Given the description of an element on the screen output the (x, y) to click on. 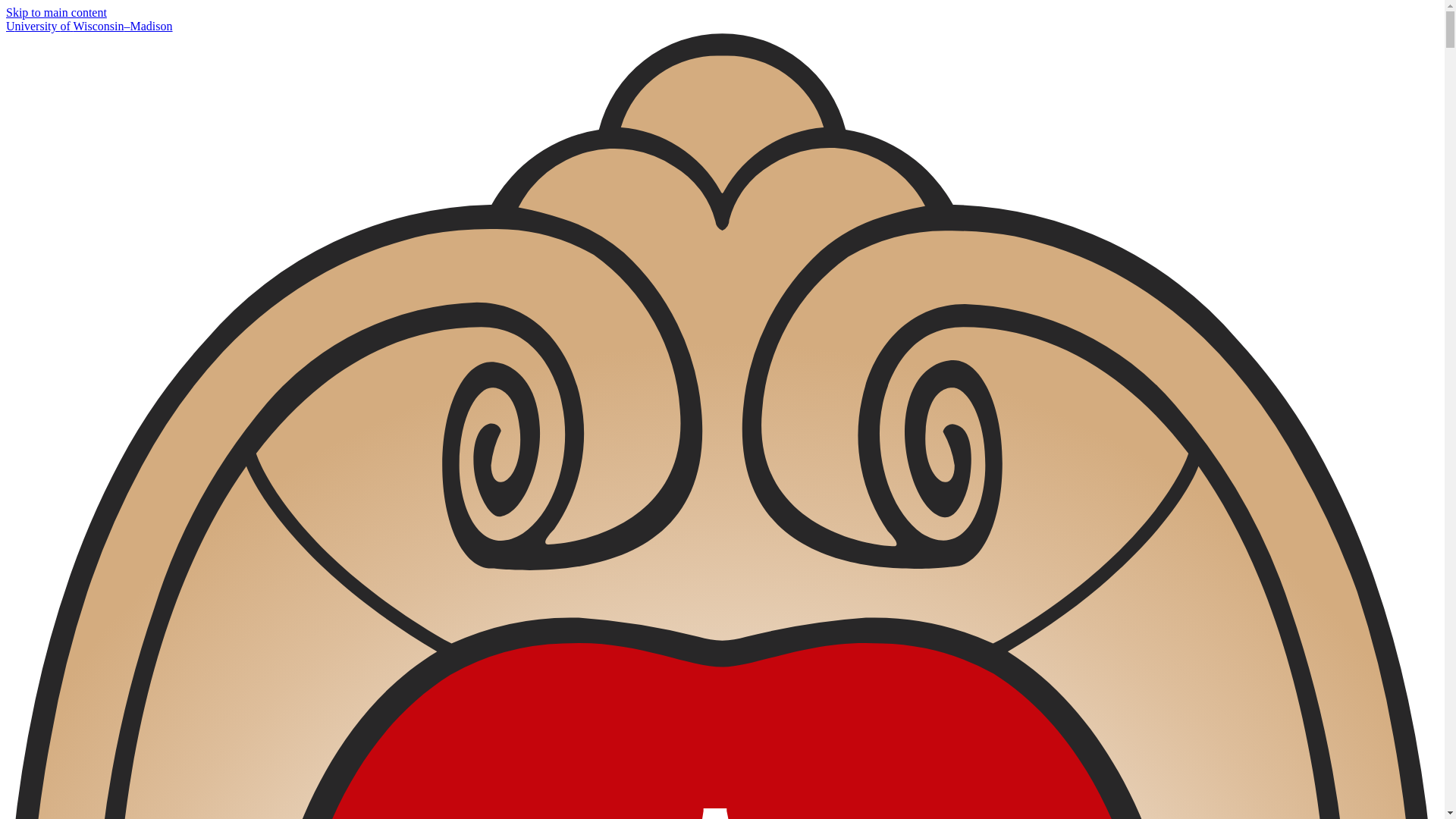
Skip to main content (55, 11)
